Given the description of an element on the screen output the (x, y) to click on. 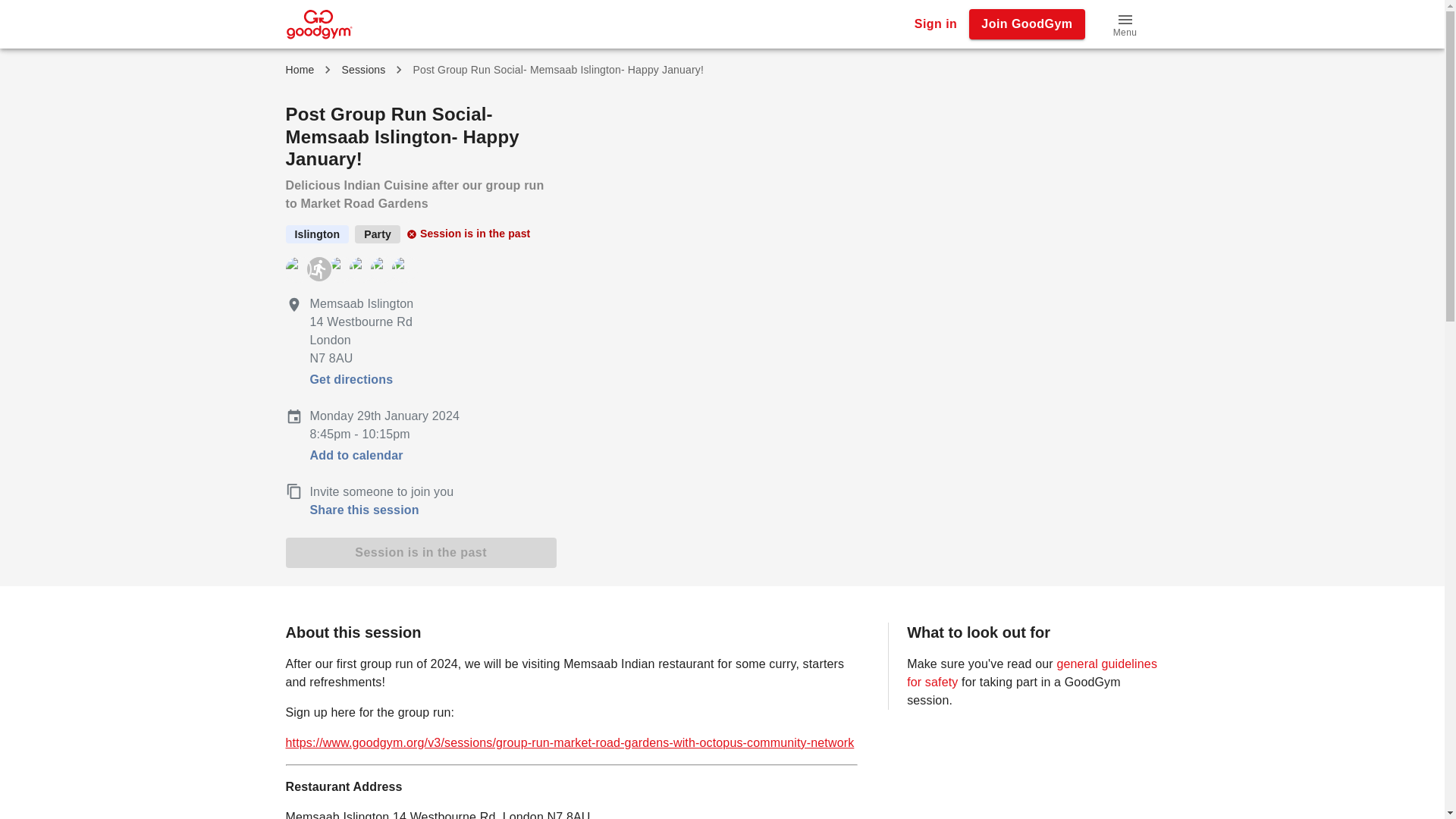
Share this session (421, 509)
Join GoodGym (1026, 24)
Session is in the past (420, 552)
Sign in (935, 24)
Get directions (350, 379)
Sessions (362, 69)
Party (377, 234)
Islington (317, 234)
Menu (1124, 24)
general guidelines for safety (1032, 672)
